Given the description of an element on the screen output the (x, y) to click on. 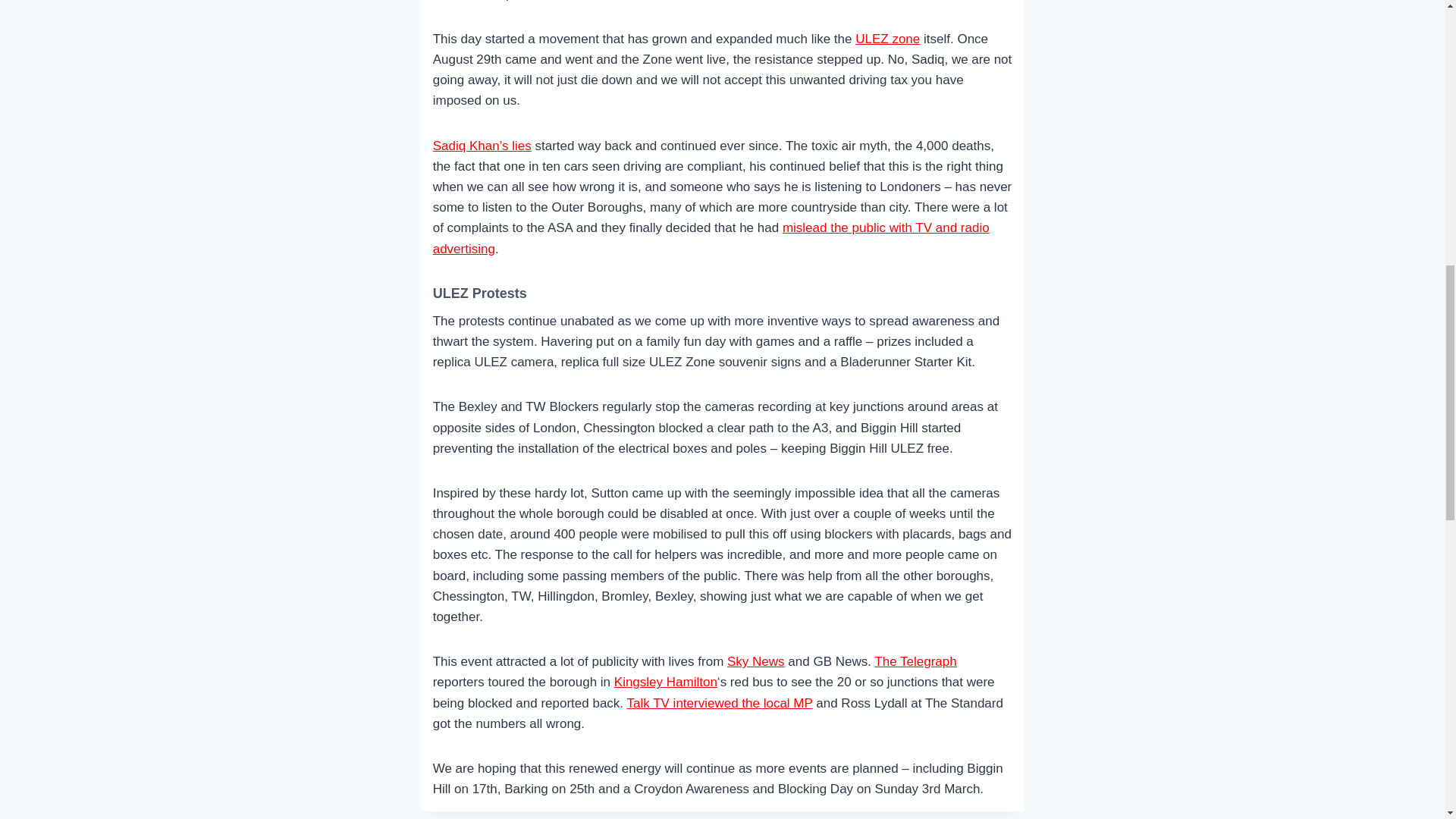
The Telegraph (915, 661)
Sky News (755, 661)
ULEZ zone (888, 38)
Kingsley Hamilton (665, 681)
Talk TV interviewed the local MP (719, 703)
mislead the public with TV and radio advertising (711, 237)
